Given the description of an element on the screen output the (x, y) to click on. 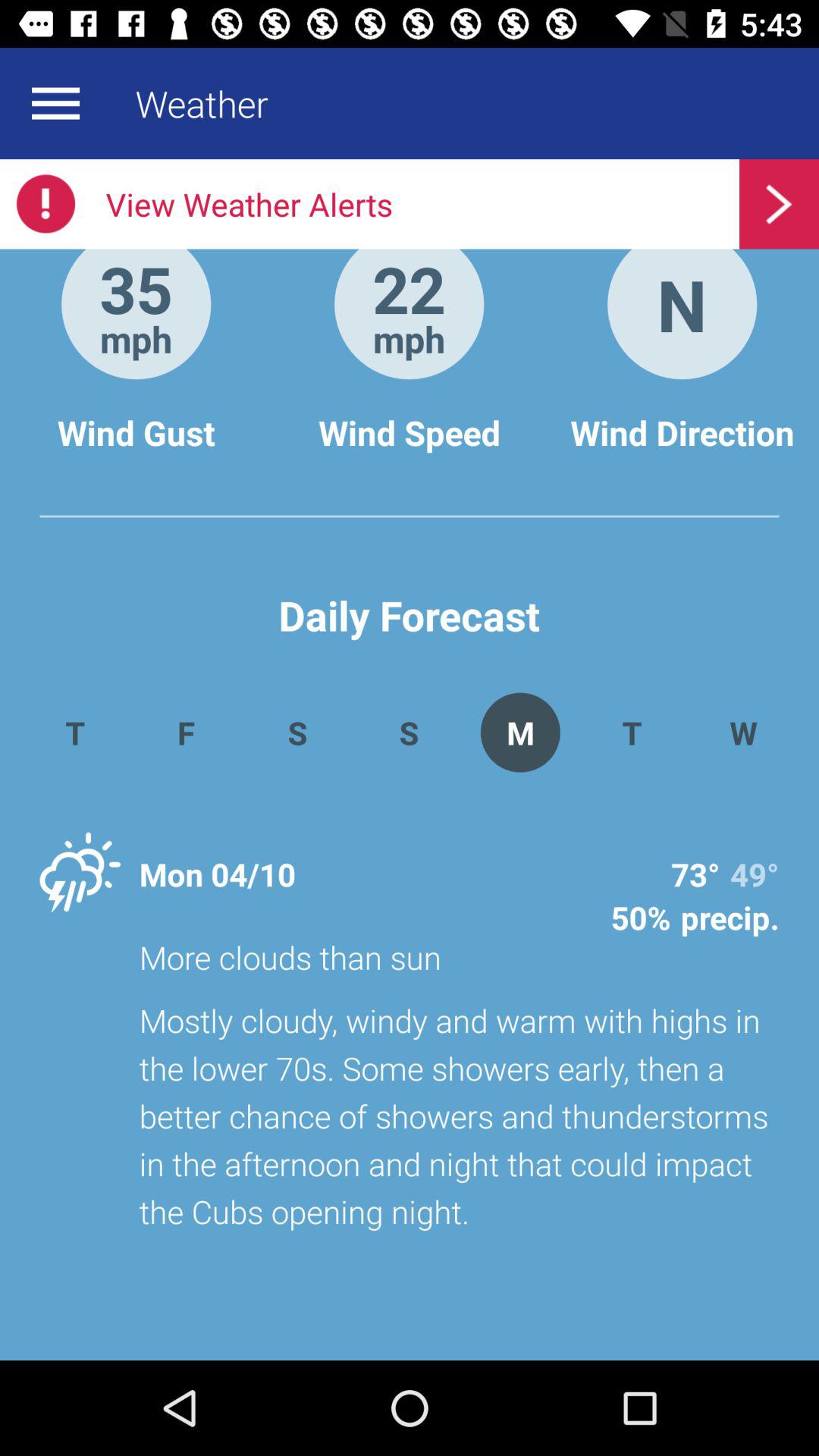
click on w (742, 733)
click on the button  (779, 204)
click on menu button (56, 103)
click on button which on left to m (408, 733)
